Given the description of an element on the screen output the (x, y) to click on. 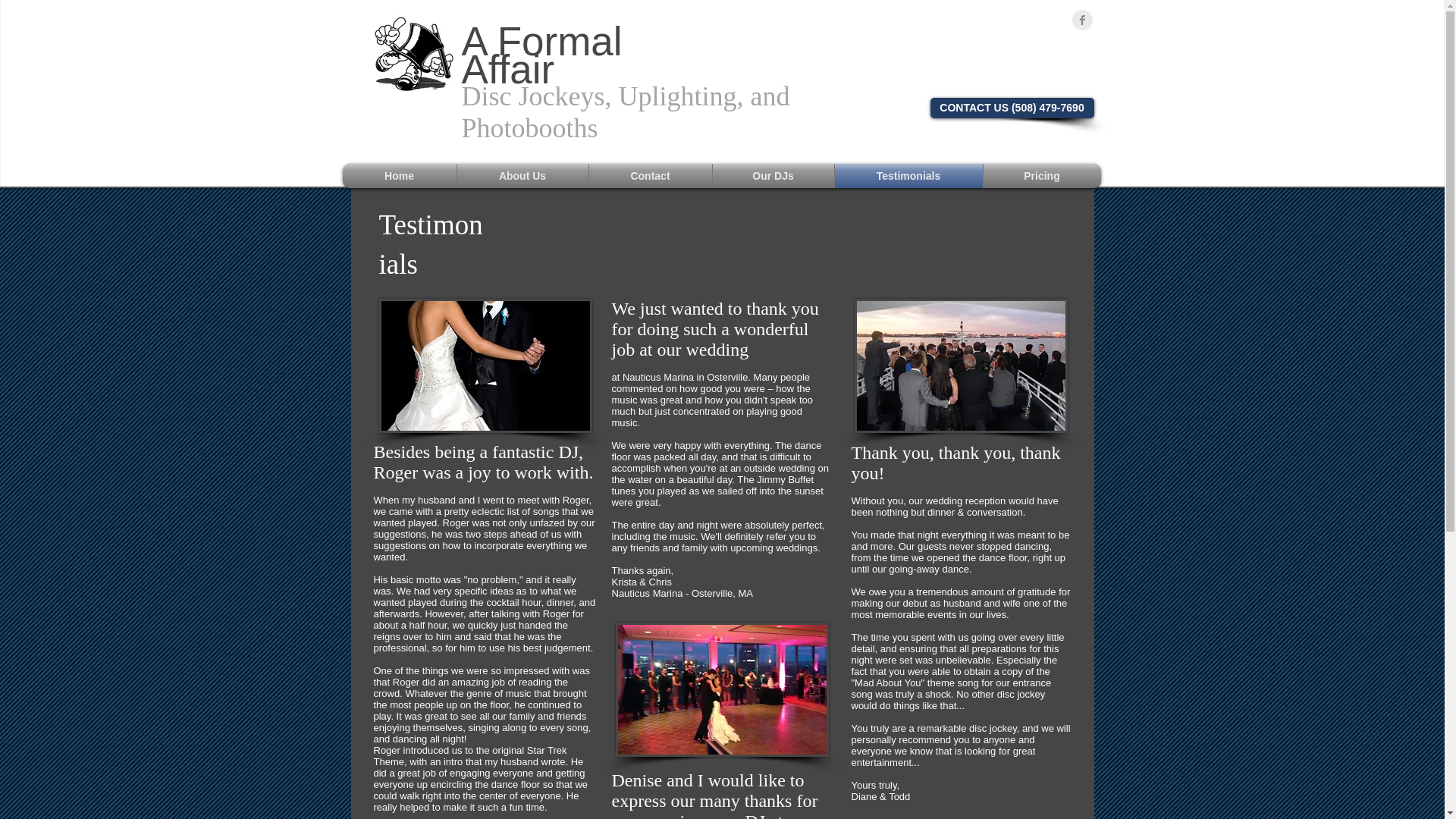
Our DJs (773, 175)
Like us on facebook (1029, 19)
Contact (649, 175)
contact02.jpg (485, 365)
testimonials01.jpg (960, 365)
Pricing (1041, 175)
Testimonials (907, 175)
index02.jpg (721, 689)
About Us (522, 175)
A Formal Affair (541, 54)
Home (399, 175)
